Given the description of an element on the screen output the (x, y) to click on. 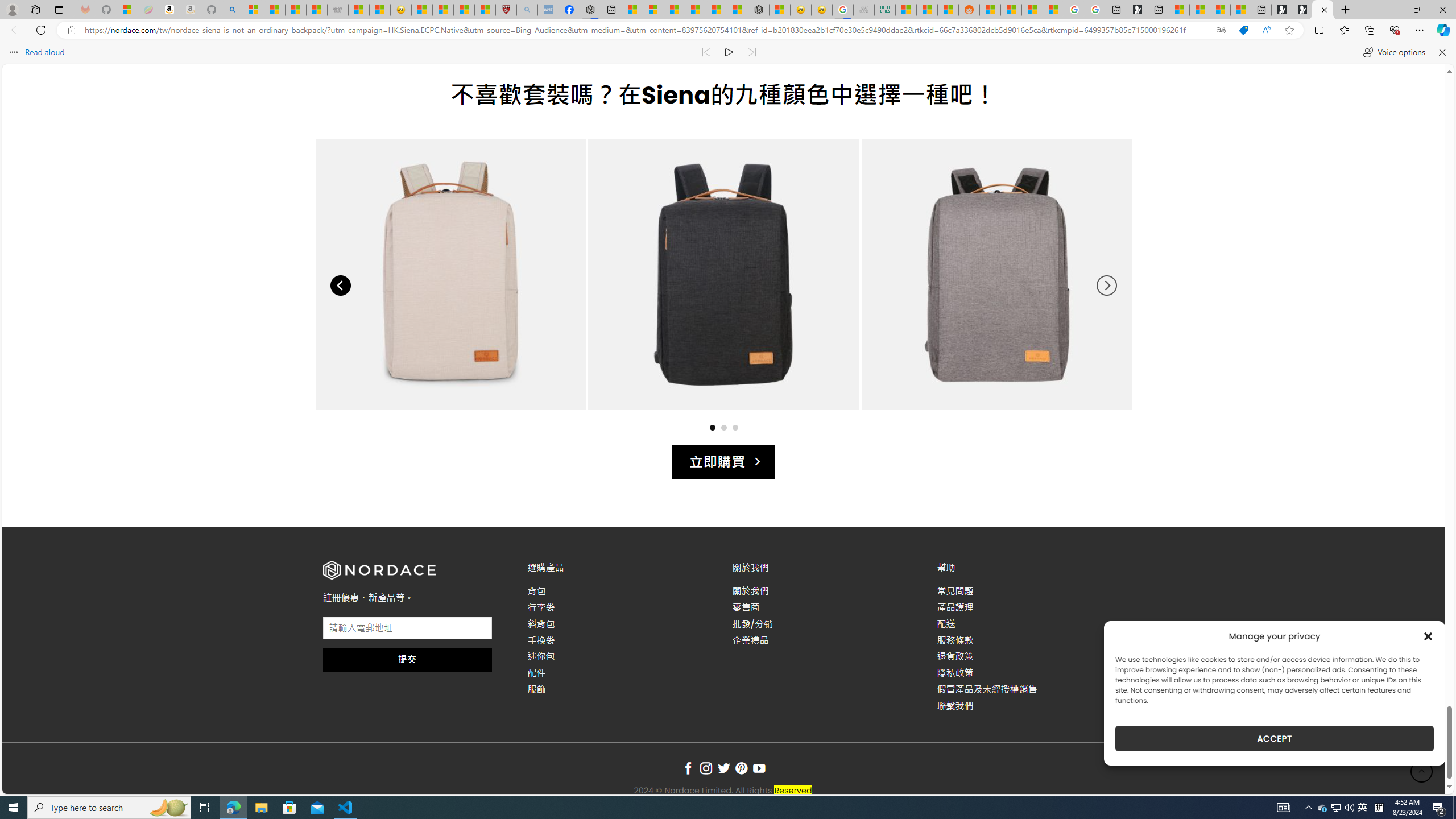
Page dot 3 (735, 427)
Nordace - #1 Japanese Best-Seller - Siena Smart Backpack (759, 9)
Science - MSN (463, 9)
Read previous paragraph (705, 52)
Class: cmplz-close (1428, 636)
Follow on Twitter (723, 768)
